Given the description of an element on the screen output the (x, y) to click on. 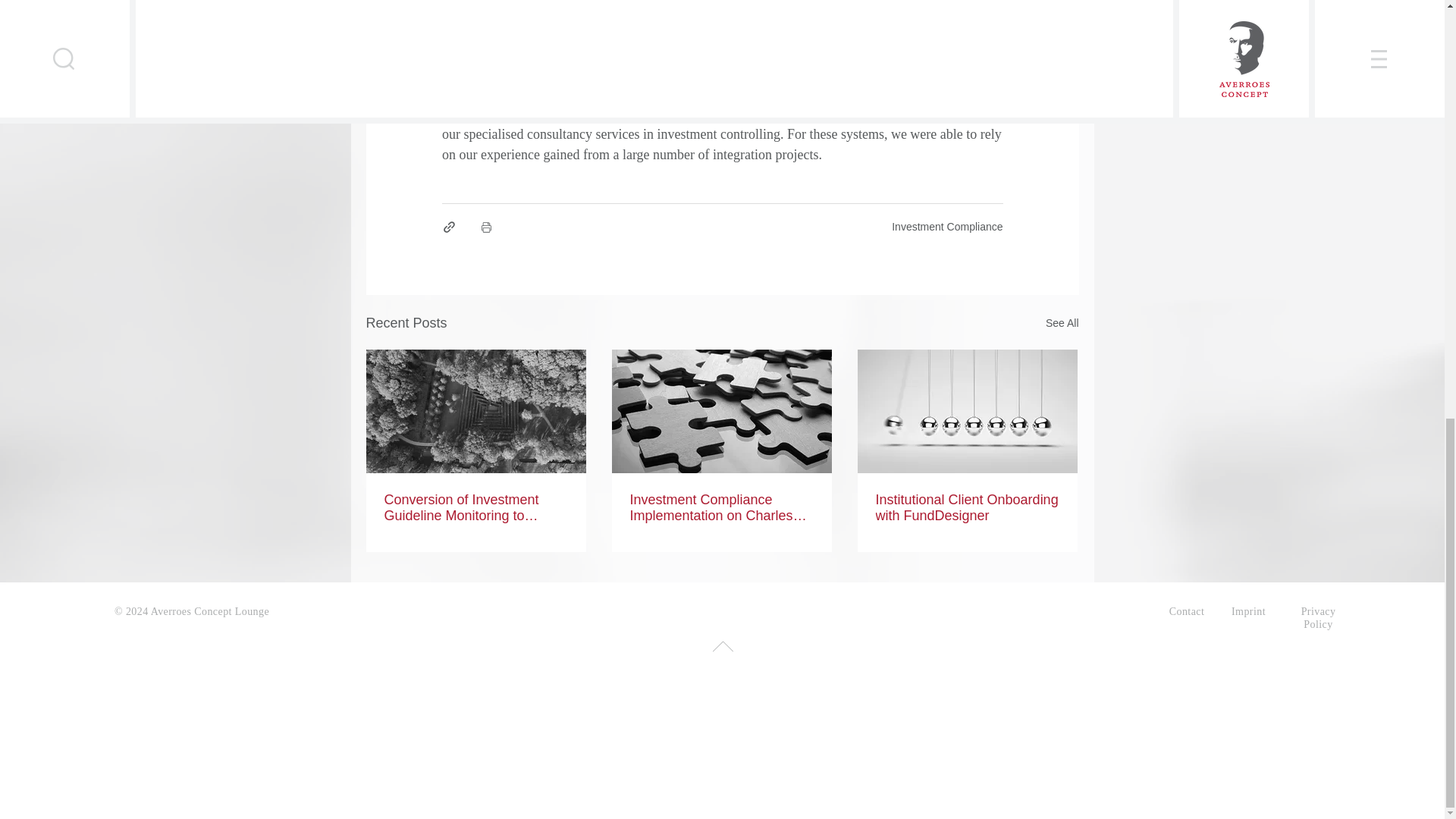
Contact (1187, 611)
Imprint (1248, 611)
Investment Compliance Implementation on Charles River IMS (720, 508)
Institutional Client Onboarding with FundDesigner (966, 508)
Investment Compliance (947, 226)
See All (1061, 323)
Privacy Policy (1318, 617)
